Given the description of an element on the screen output the (x, y) to click on. 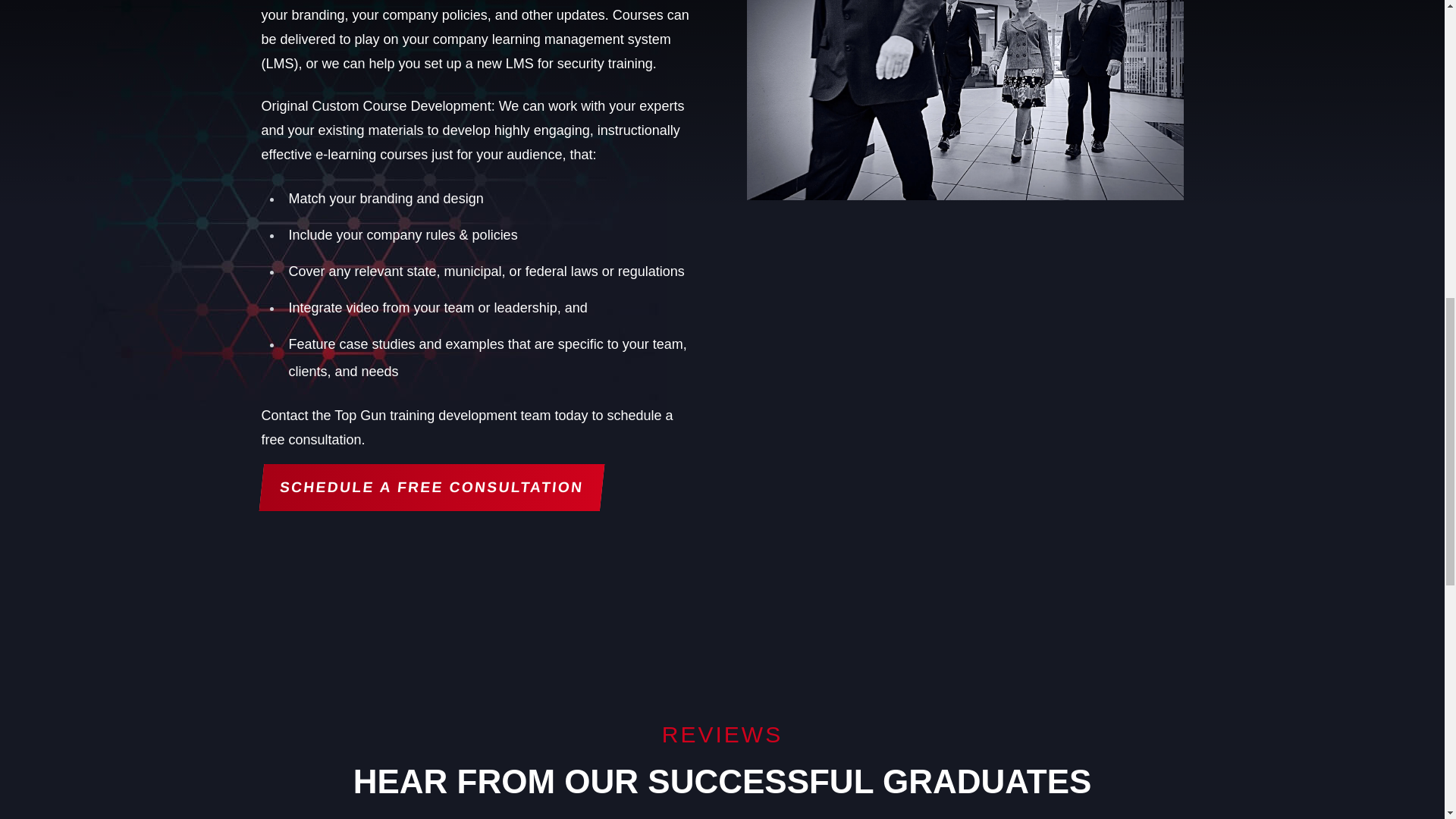
SCHEDULE A FREE CONSULTATION (428, 487)
